Given the description of an element on the screen output the (x, y) to click on. 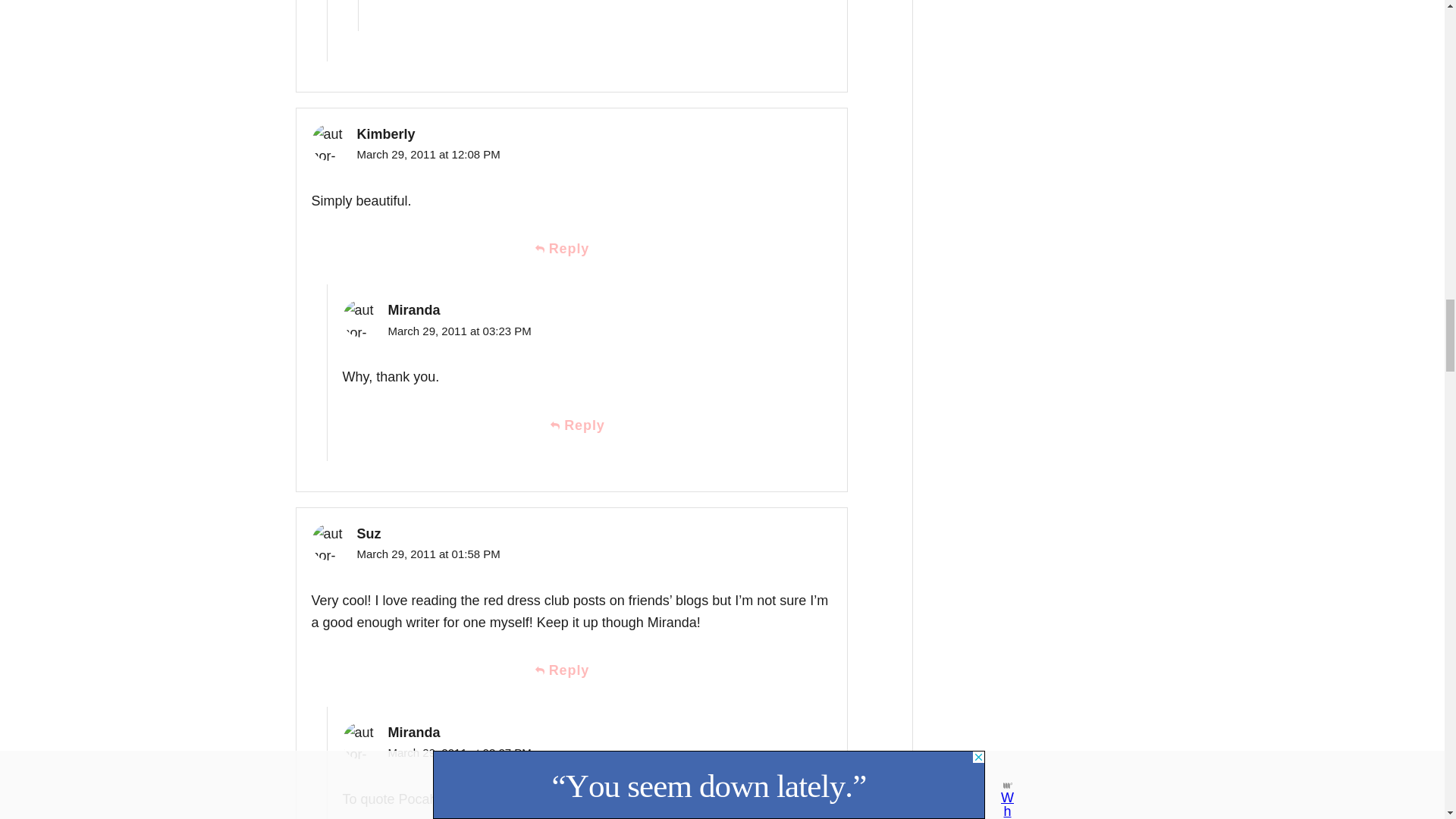
Reply (571, 249)
Reply (571, 670)
Reply (586, 425)
